Given the description of an element on the screen output the (x, y) to click on. 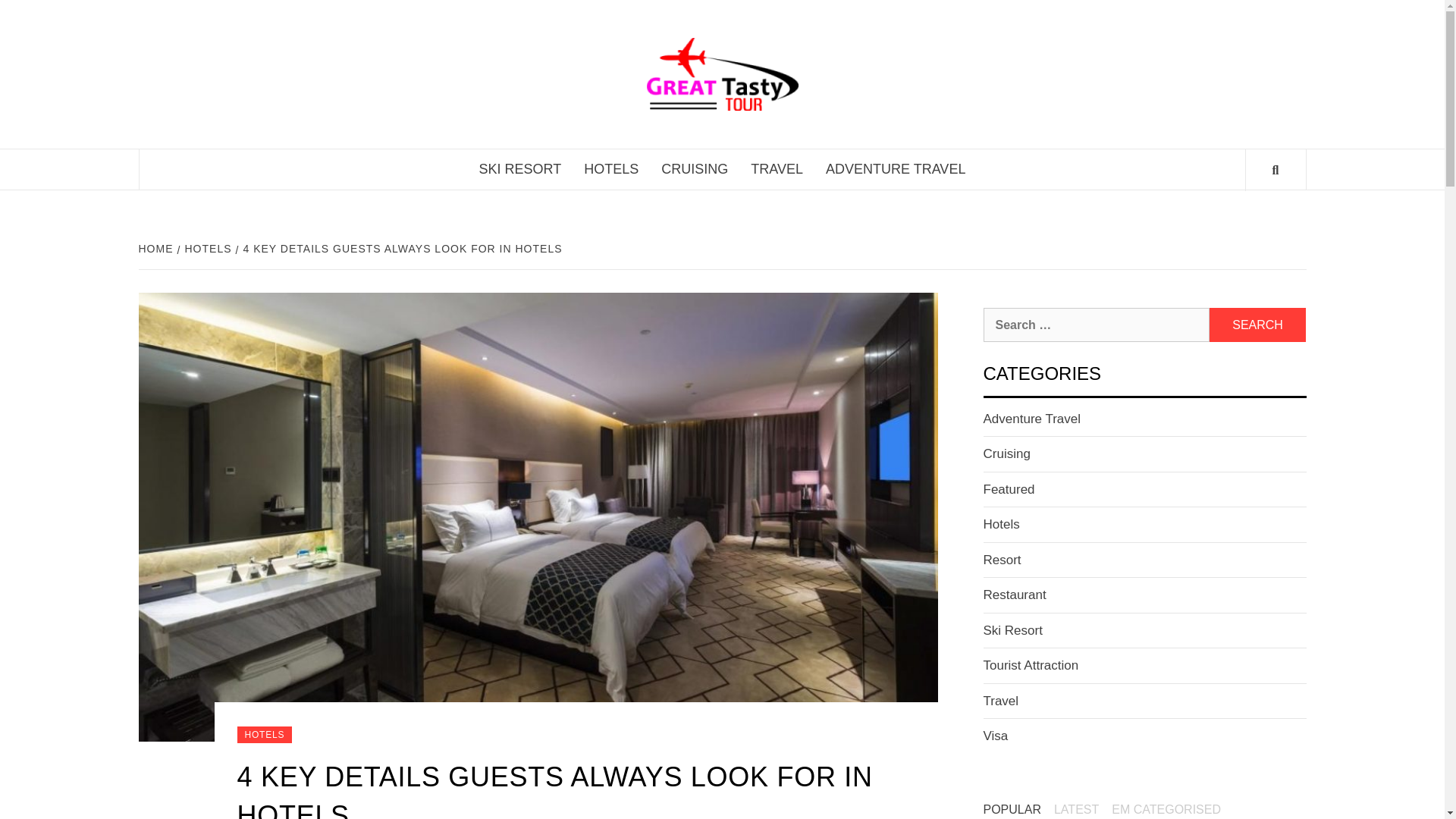
Search (1257, 324)
Cruising (1005, 453)
Hotels (1000, 523)
HOTELS (206, 248)
Tourist Attraction (1030, 665)
SKI RESORT (520, 169)
Resort (1001, 559)
4 KEY DETAILS GUESTS ALWAYS LOOK FOR IN HOTELS (400, 248)
Restaurant (1013, 594)
HOTELS (610, 169)
